Given the description of an element on the screen output the (x, y) to click on. 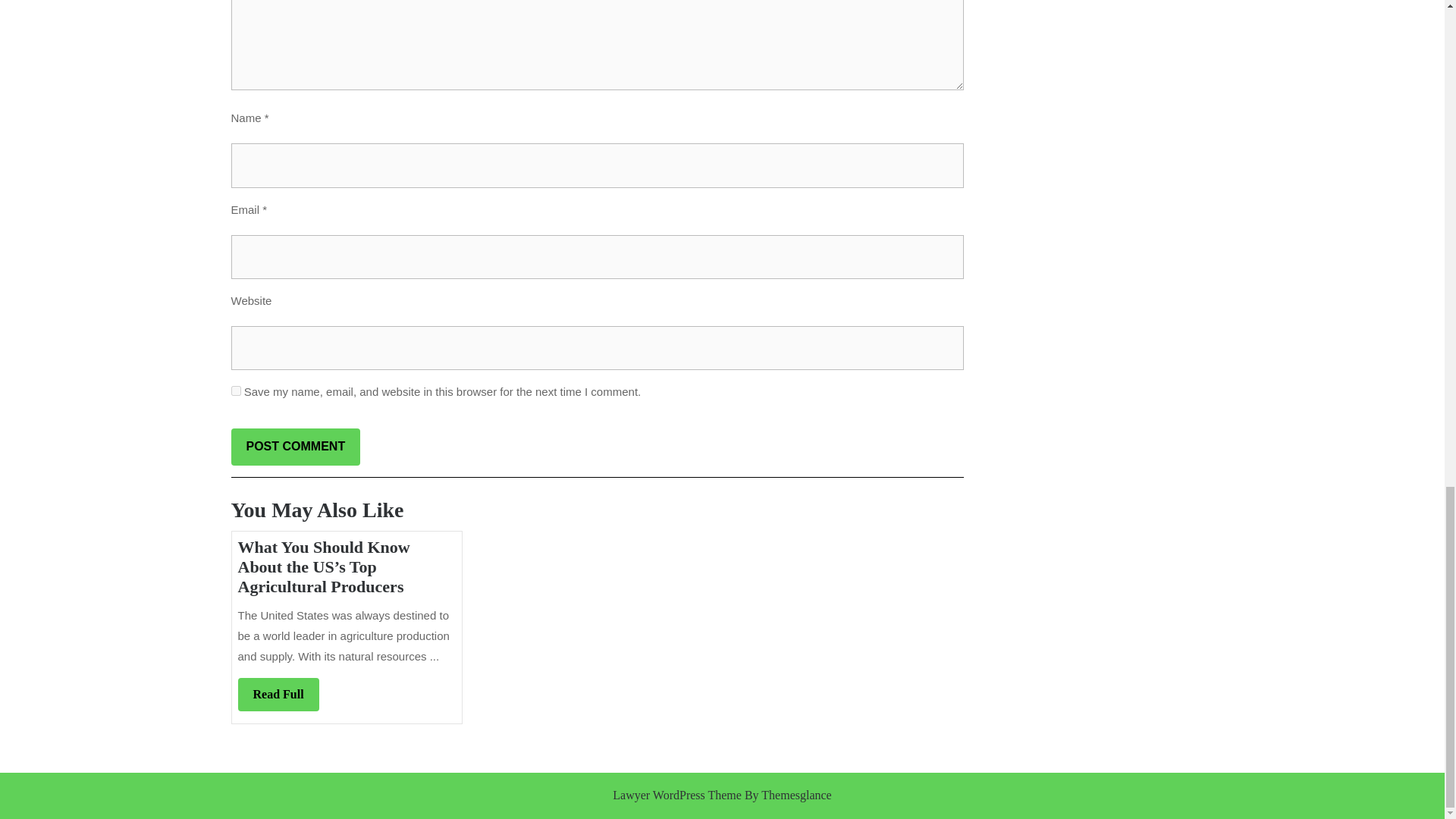
Post Comment (294, 447)
yes (278, 694)
Post Comment (235, 390)
